Given the description of an element on the screen output the (x, y) to click on. 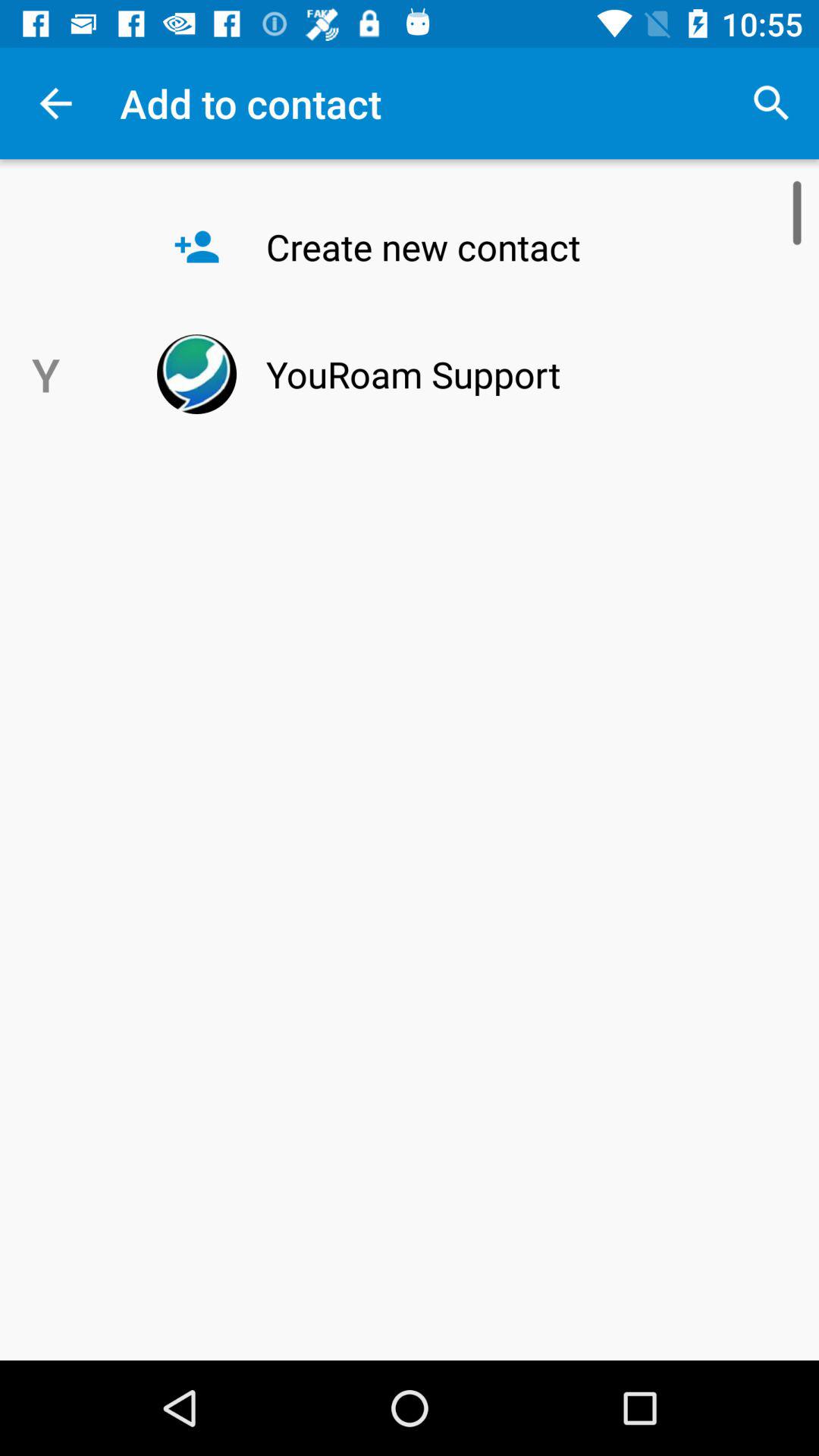
tap the item above the y (55, 103)
